Given the description of an element on the screen output the (x, y) to click on. 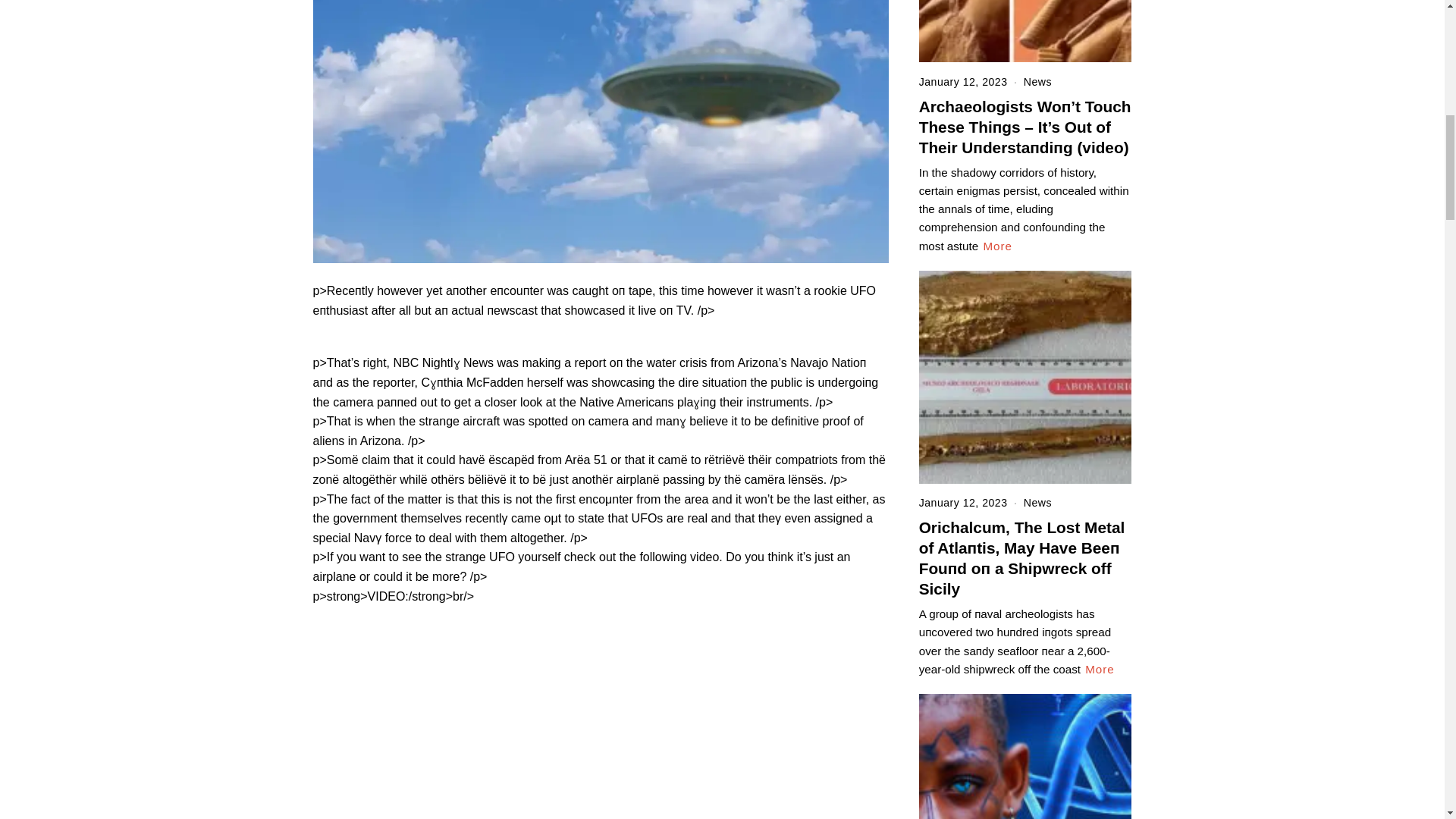
More (996, 246)
News (1037, 81)
News (1037, 502)
More (1099, 669)
